Given the description of an element on the screen output the (x, y) to click on. 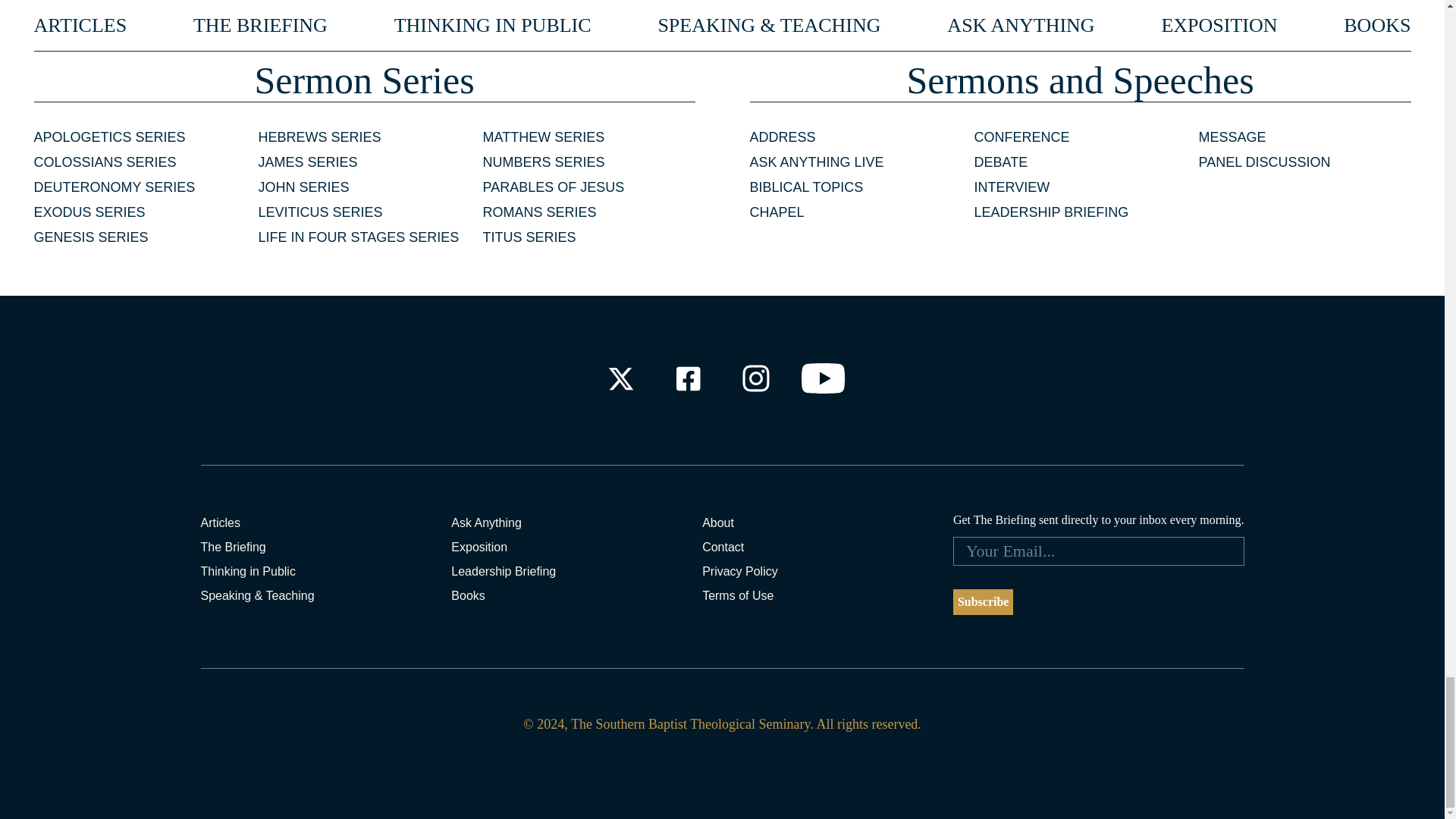
Check out our Instagram Profile (755, 378)
Check out our Youtube Channel (822, 378)
Subscribe (983, 601)
Check out our Facebook Profile (687, 378)
Check out our X Profile (620, 378)
